Given the description of an element on the screen output the (x, y) to click on. 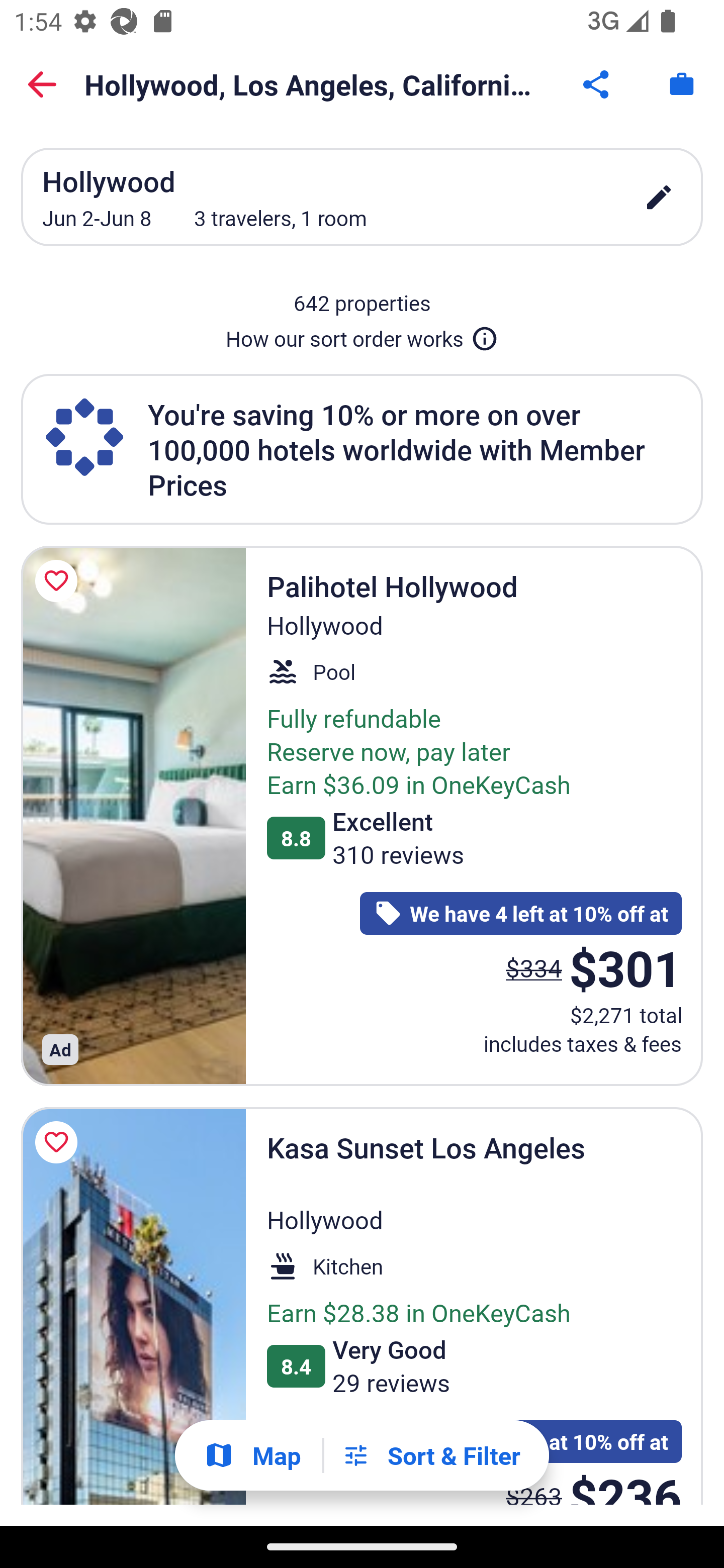
Back (42, 84)
Share Button (597, 84)
Trips. Button (681, 84)
Hollywood Jun 2-Jun 8 3 travelers, 1 room edit (361, 196)
How our sort order works (361, 334)
Save Palihotel Hollywood to a trip (59, 580)
Palihotel Hollywood (133, 815)
$334 The price was $334 (533, 967)
Save Kasa Sunset Los Angeles to a trip (59, 1141)
Kasa Sunset Los Angeles (133, 1306)
Filters Sort & Filter Filters Button (430, 1455)
Show map Map Show map Button (252, 1455)
